Given the description of an element on the screen output the (x, y) to click on. 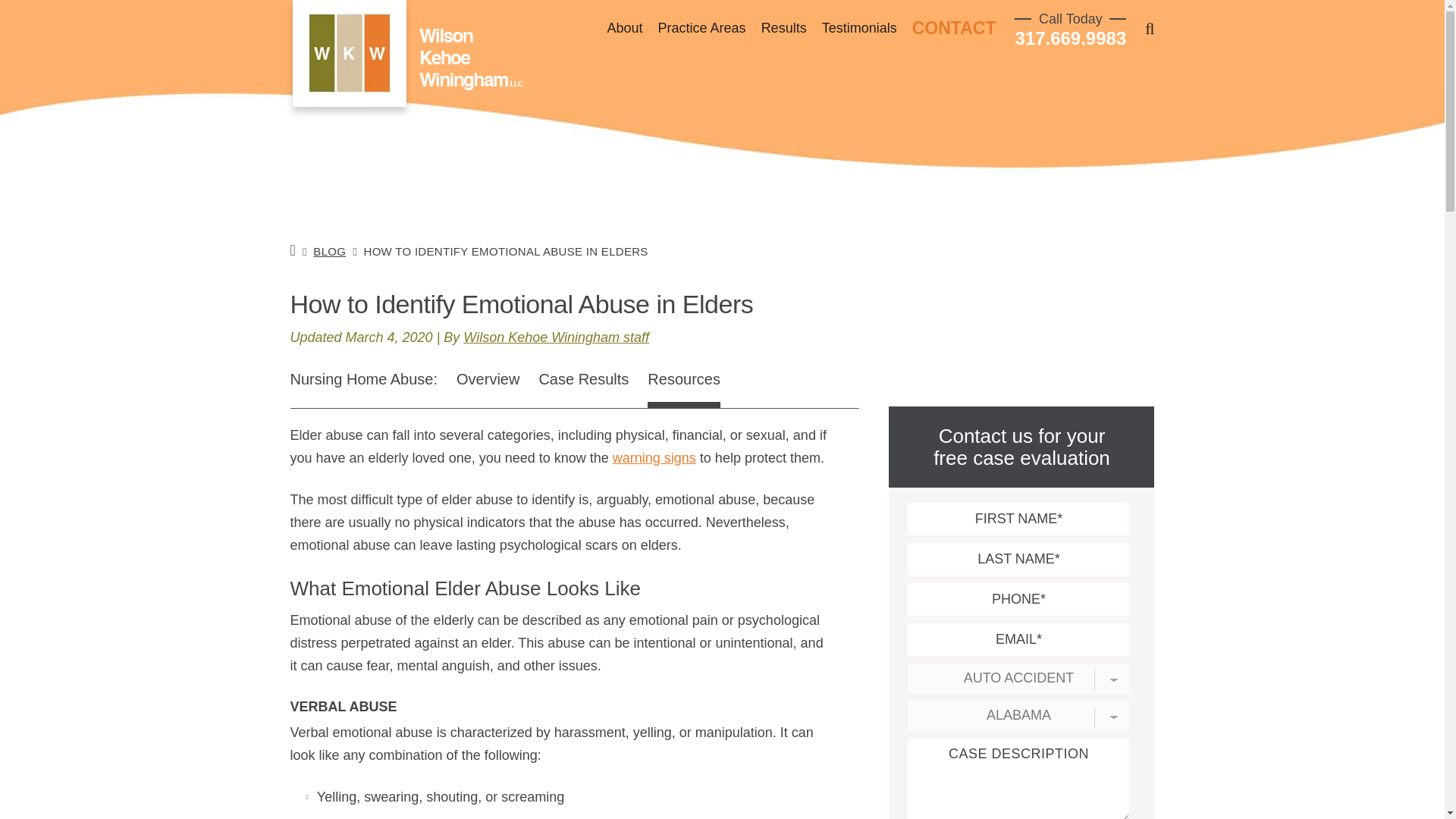
Chat Widget (37, 782)
